Given the description of an element on the screen output the (x, y) to click on. 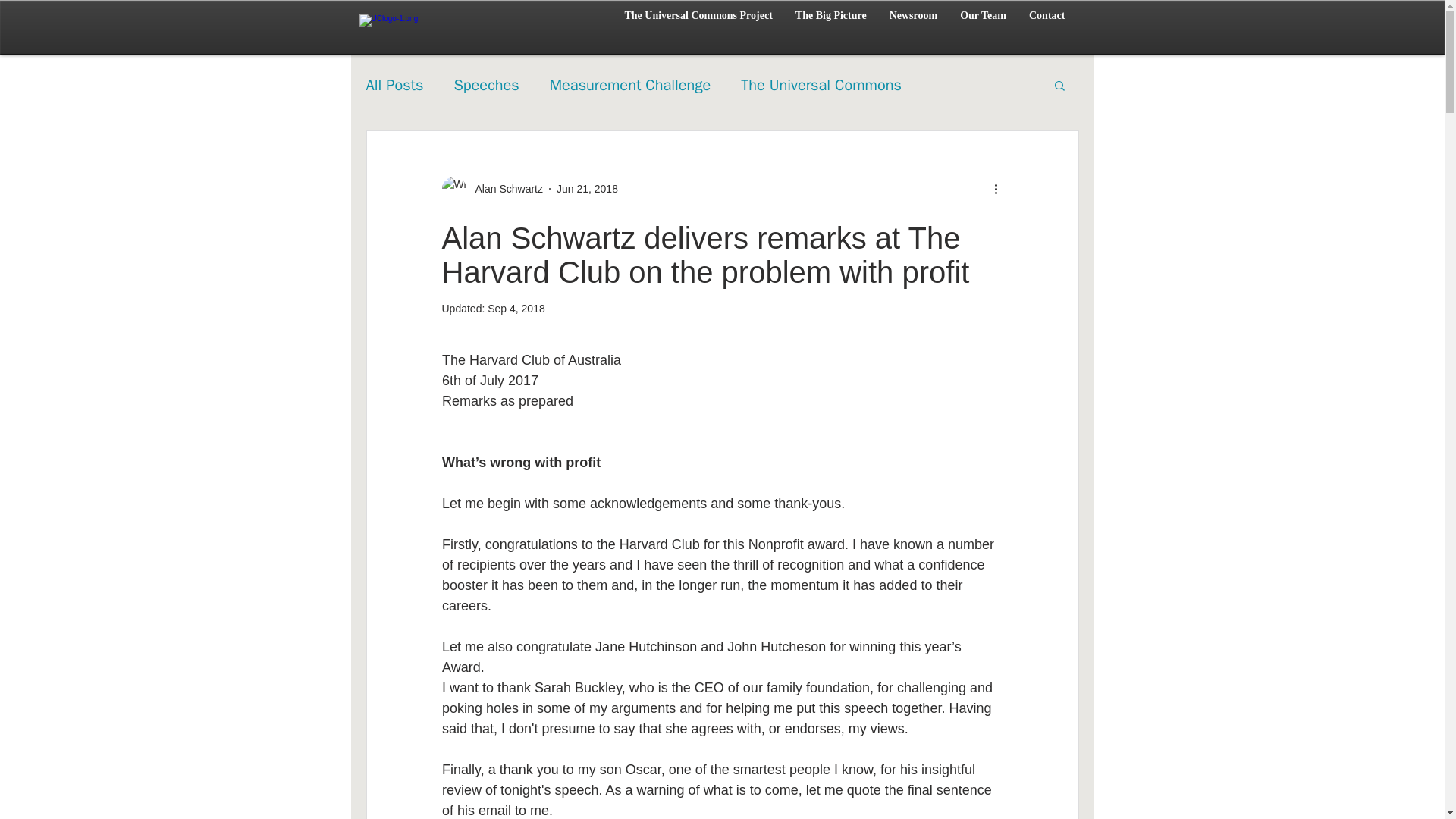
The Universal Commons (821, 84)
All Posts (394, 84)
Newsroom (913, 21)
Contact (1046, 21)
Sep 4, 2018 (515, 308)
Our Team (983, 21)
Jun 21, 2018 (586, 187)
Speeches (485, 84)
Measurement Challenge (630, 84)
The Big Picture (830, 21)
